Given the description of an element on the screen output the (x, y) to click on. 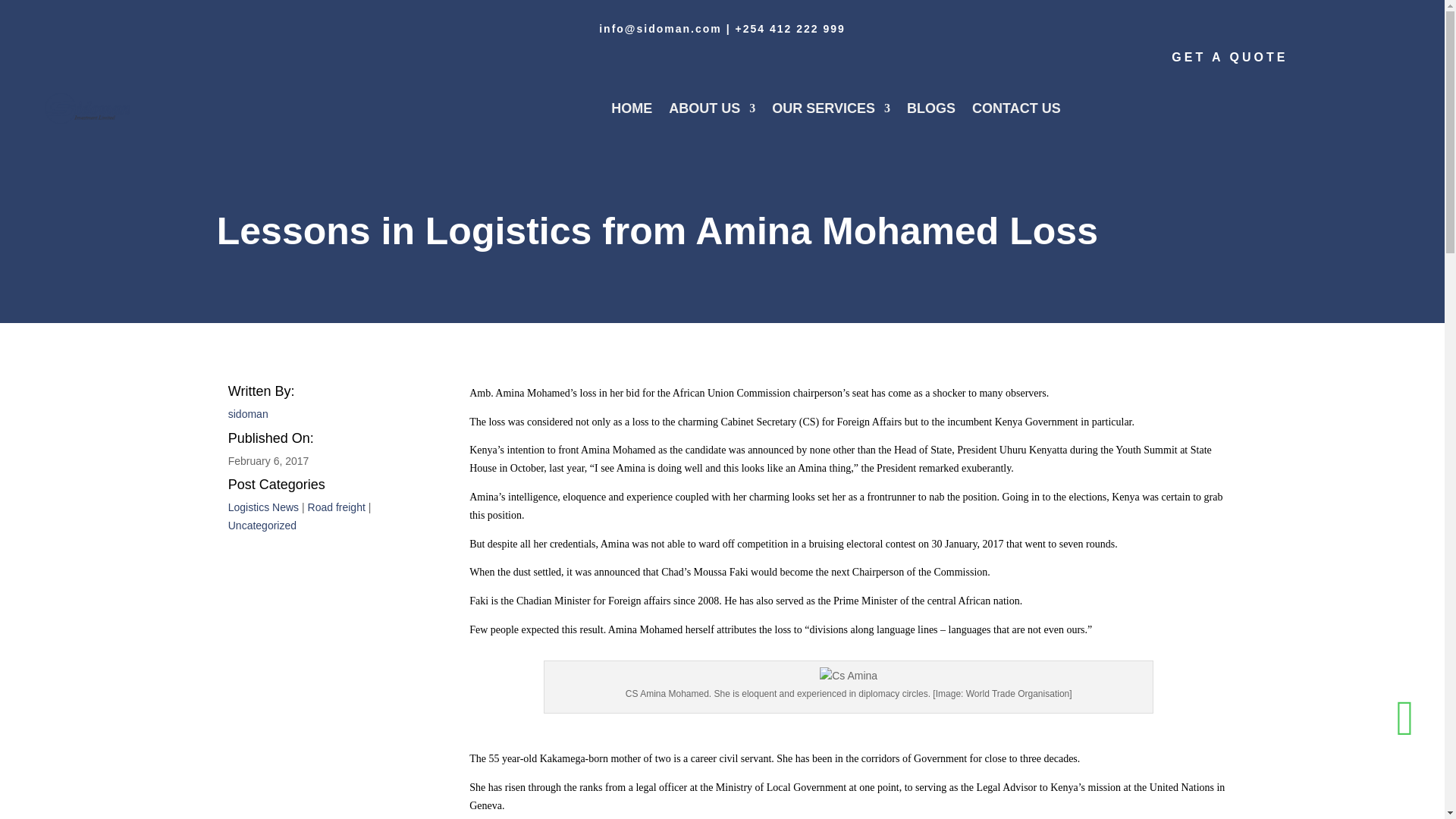
GET A QUOTE (1229, 56)
Road freight (336, 507)
OUR SERVICES (830, 108)
Uncategorized (262, 525)
sidoman (247, 413)
CONTACT US (1016, 108)
ABOUT US (711, 108)
Logistics News (263, 507)
